Given the description of an element on the screen output the (x, y) to click on. 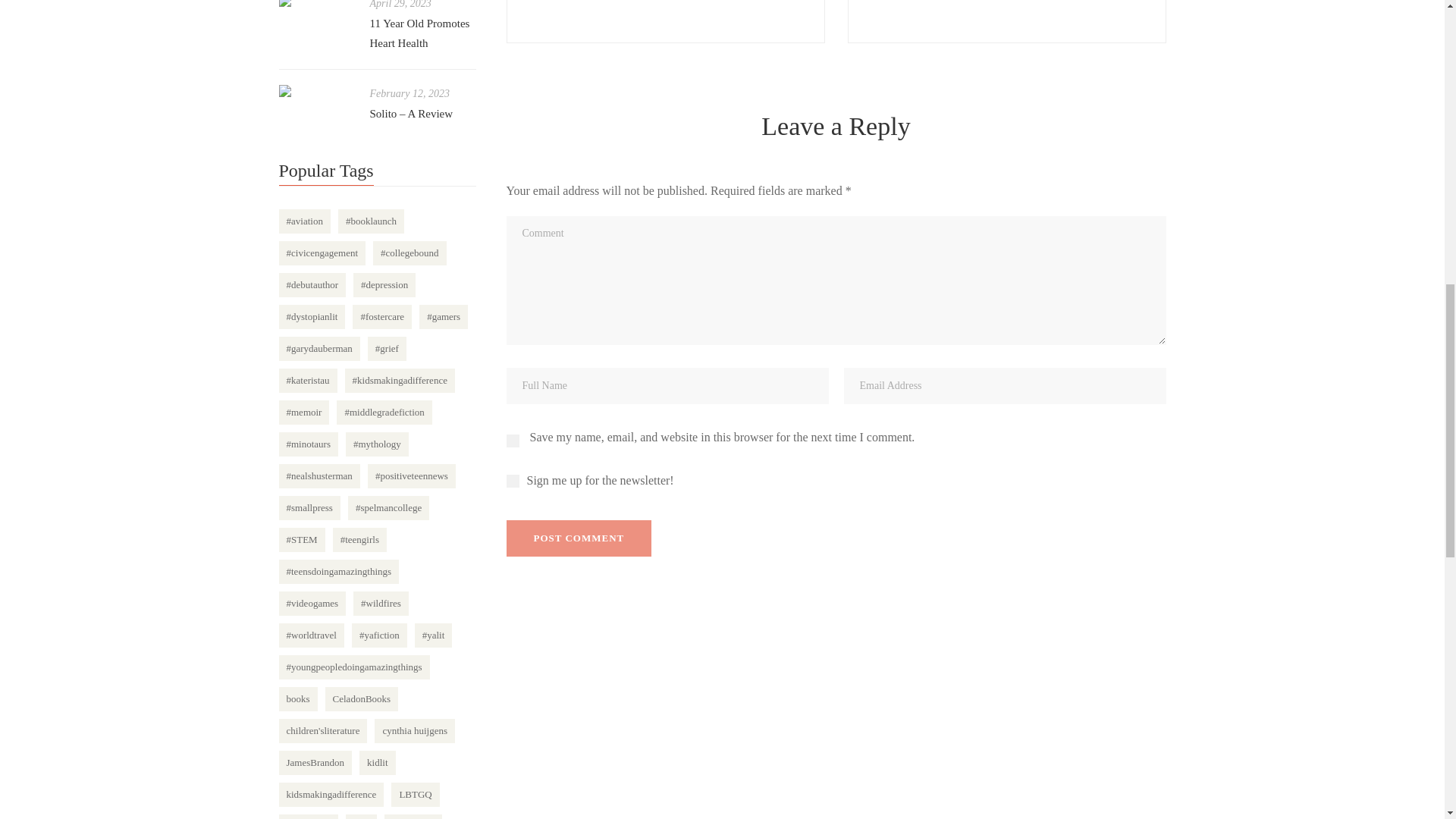
Teen Connects Kids Through Games (665, 21)
1 (512, 481)
THE APOLOGY BOX - sample chapter (1006, 21)
Post Comment (579, 538)
Post Comment (579, 538)
yes (512, 440)
